Given the description of an element on the screen output the (x, y) to click on. 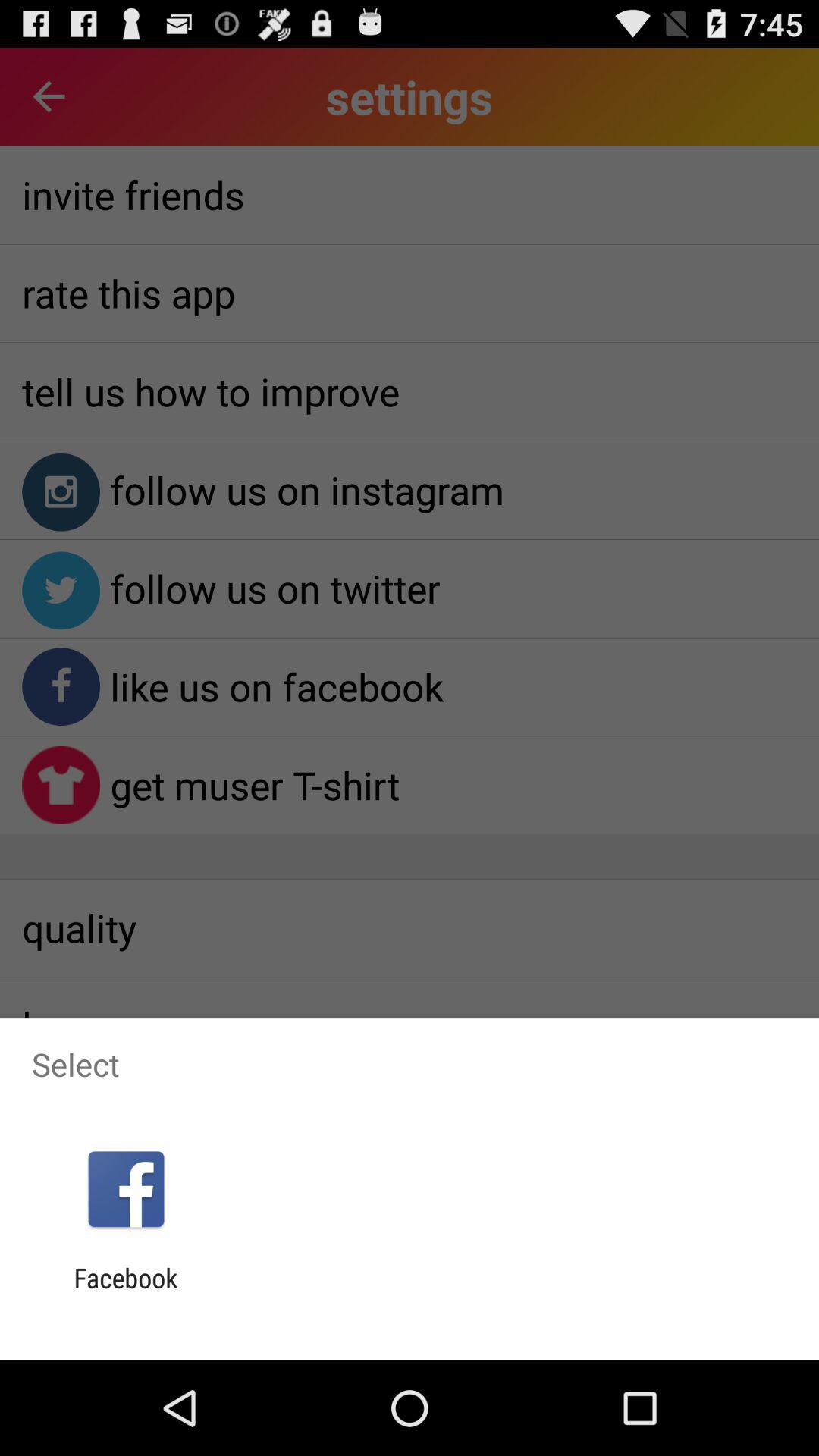
turn on the item below the select icon (126, 1189)
